Given the description of an element on the screen output the (x, y) to click on. 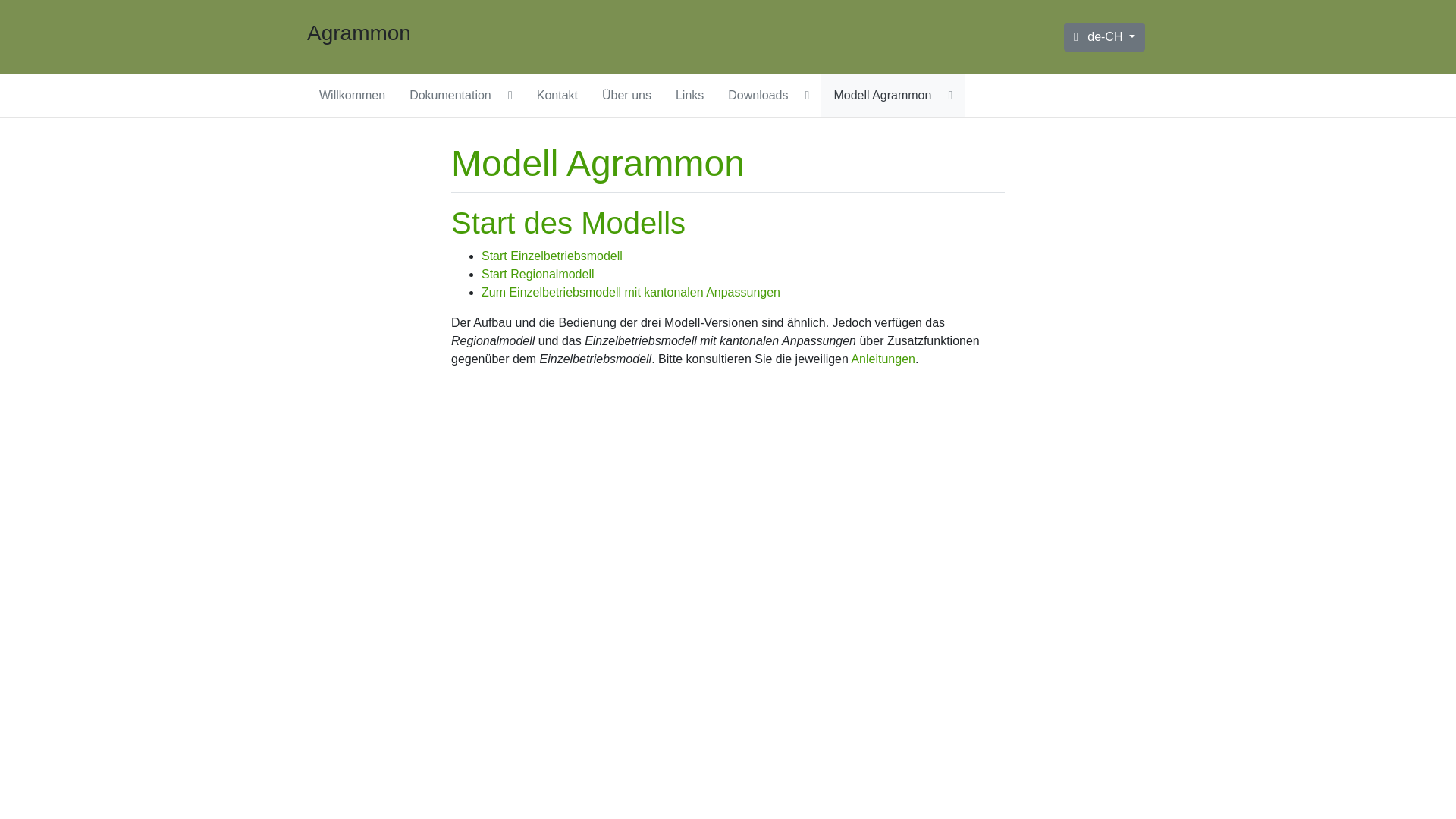
Links Element type: text (689, 95)
de-CH Element type: text (1104, 36)
Modell Agrammon Element type: text (882, 95)
Kontakt Element type: text (556, 95)
Start Regionalmodell Element type: text (537, 273)
Agrammon Element type: text (359, 32)
Display Modell Agrammon submenu pages Element type: text (950, 95)
Start Einzelbetriebsmodell Element type: text (551, 255)
Dokumentation Element type: text (450, 95)
Zum Einzelbetriebsmodell mit kantonalen Anpassungen Element type: text (630, 291)
Display Dokumentation submenu pages Element type: text (509, 95)
Anleitungen Element type: text (882, 358)
Willkommen Element type: text (352, 95)
Downloads Element type: text (757, 95)
Display Downloads submenu pages Element type: text (807, 95)
